Given the description of an element on the screen output the (x, y) to click on. 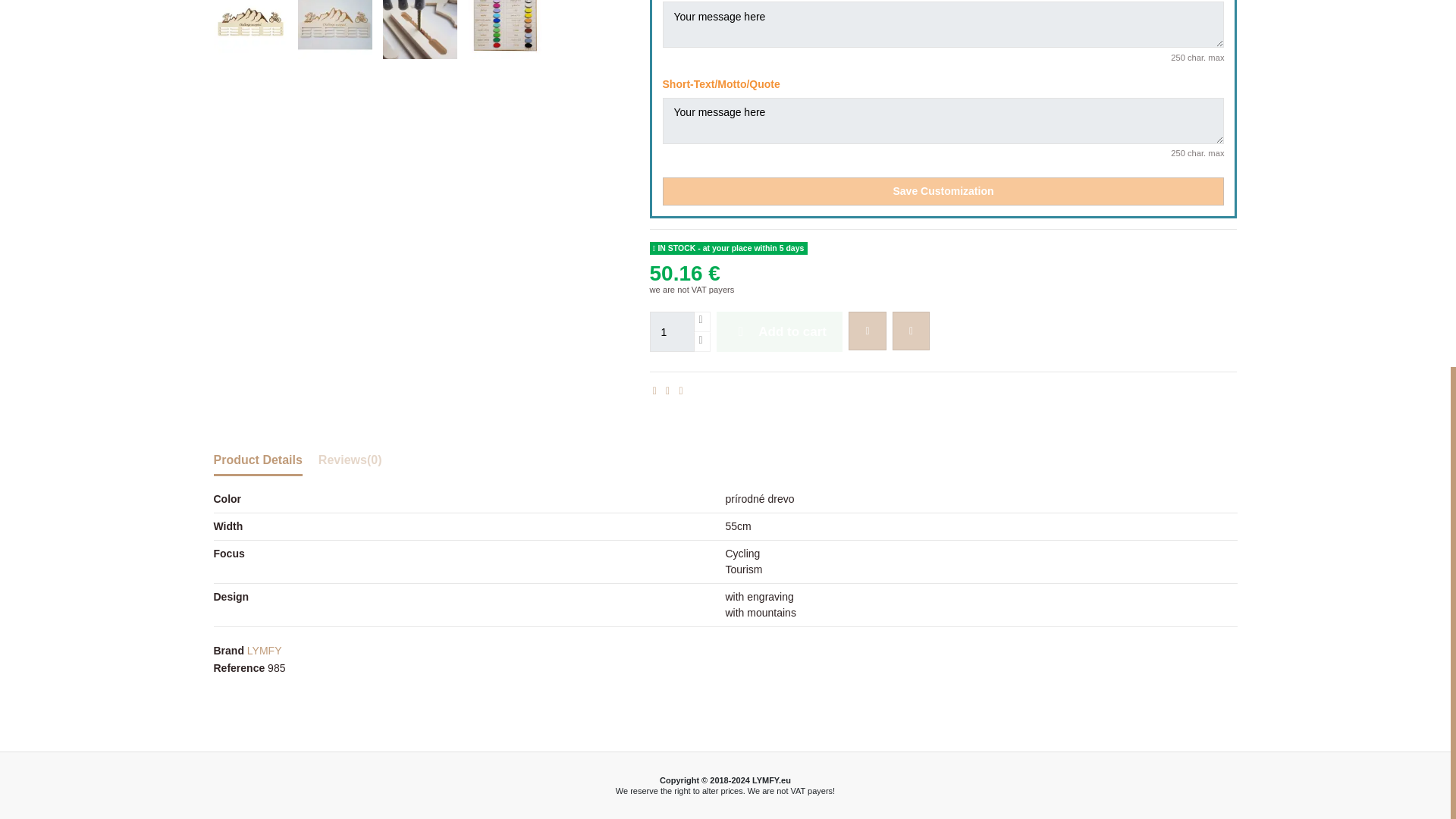
1 (671, 332)
